Given the description of an element on the screen output the (x, y) to click on. 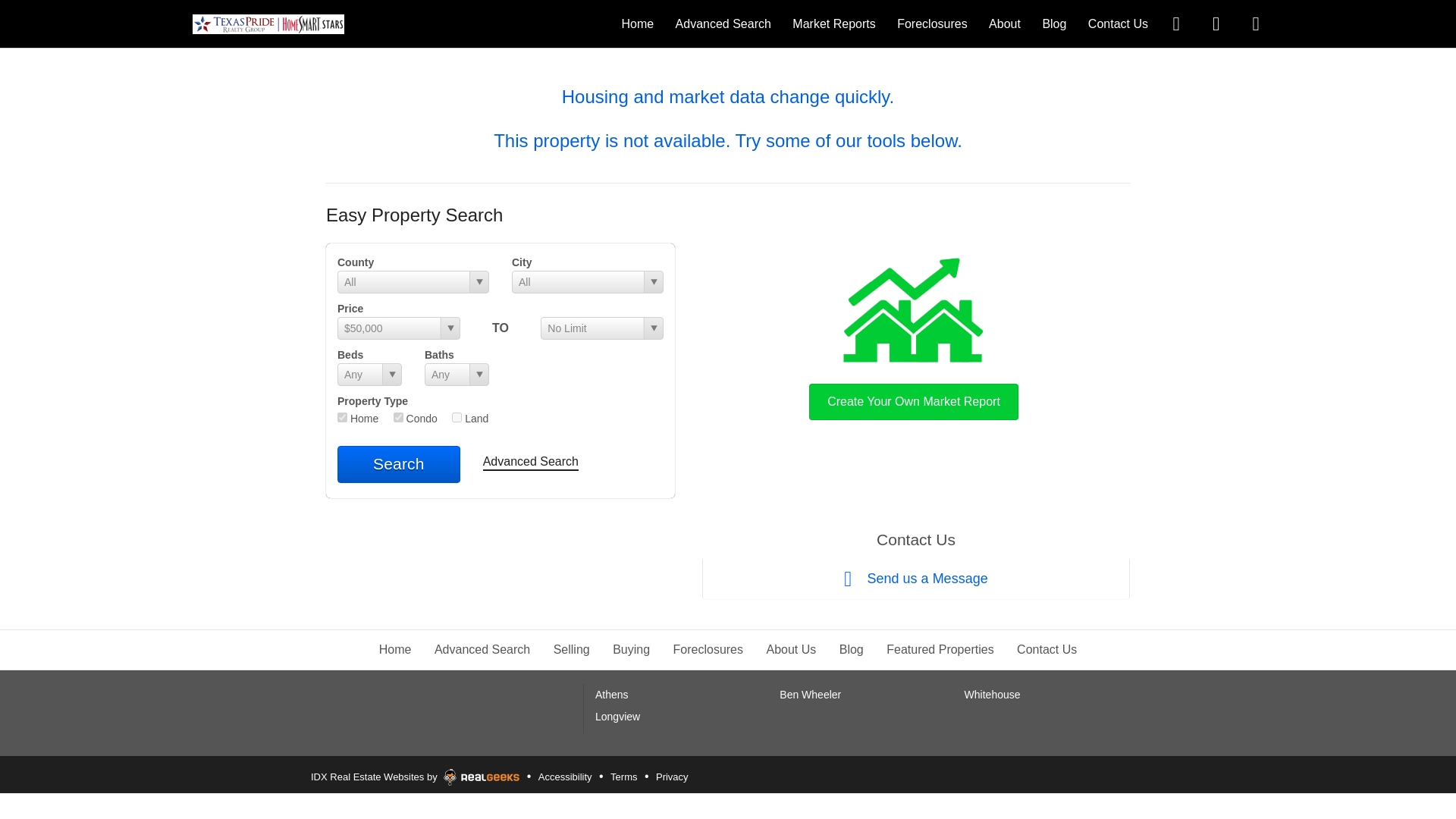
Send us a Message (915, 578)
Blog (851, 649)
Ben Wheeler (809, 694)
Search (398, 463)
Home (395, 649)
Market Reports (833, 23)
Search (398, 463)
Accessibility (564, 776)
Buying (630, 649)
Selling (571, 649)
